Given the description of an element on the screen output the (x, y) to click on. 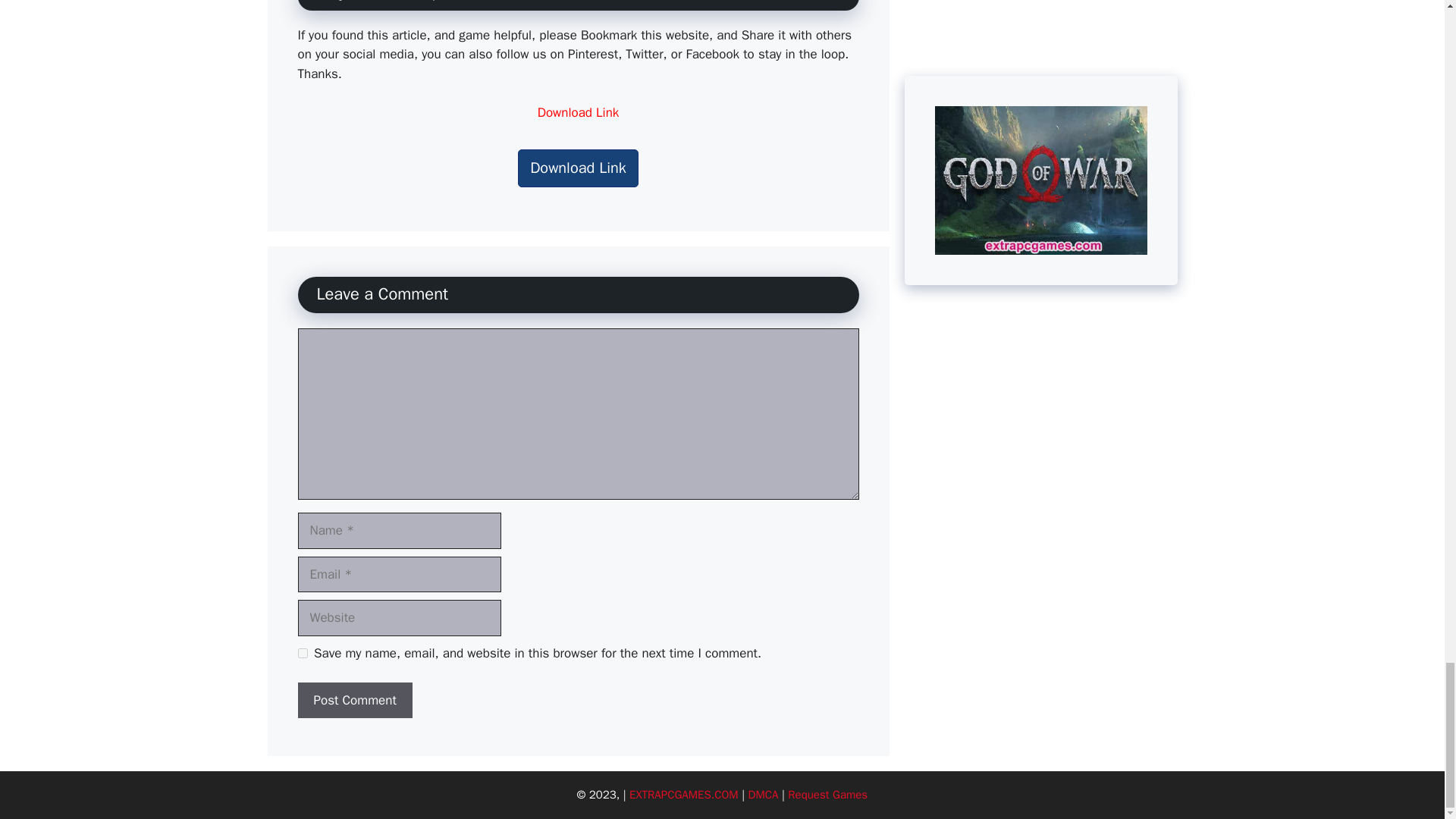
Post Comment (354, 700)
yes (302, 653)
